Given the description of an element on the screen output the (x, y) to click on. 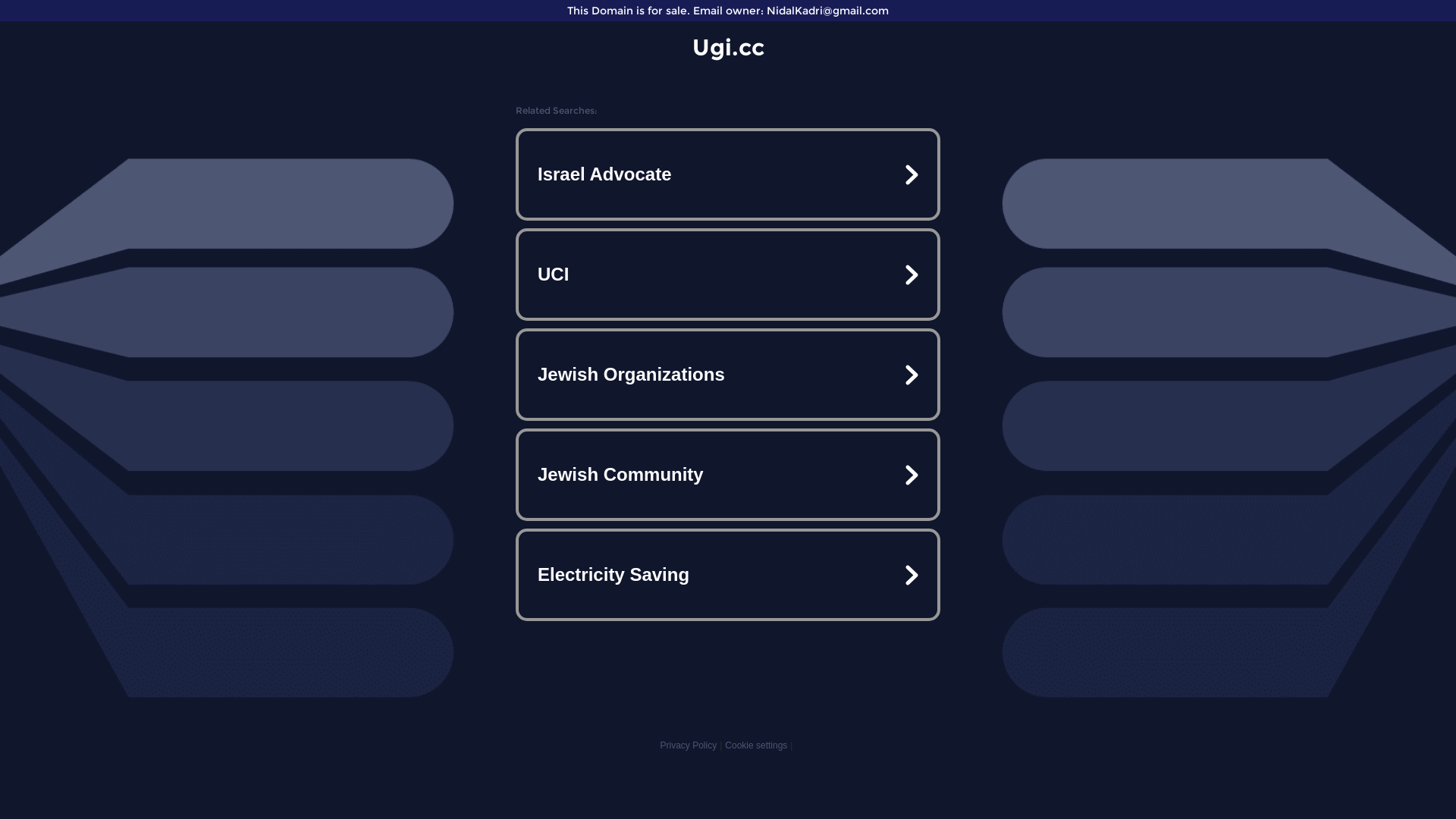
UCI Element type: text (727, 274)
Privacy Policy Element type: text (687, 745)
Jewish Organizations Element type: text (727, 374)
Ugi.cc Element type: text (727, 47)
Cookie settings Element type: text (755, 745)
This Domain is for sale. Email owner: NidalKadri@gmail.com Element type: text (727, 10)
Jewish Community Element type: text (727, 474)
Israel Advocate Element type: text (727, 174)
Electricity Saving Element type: text (727, 574)
